Given the description of an element on the screen output the (x, y) to click on. 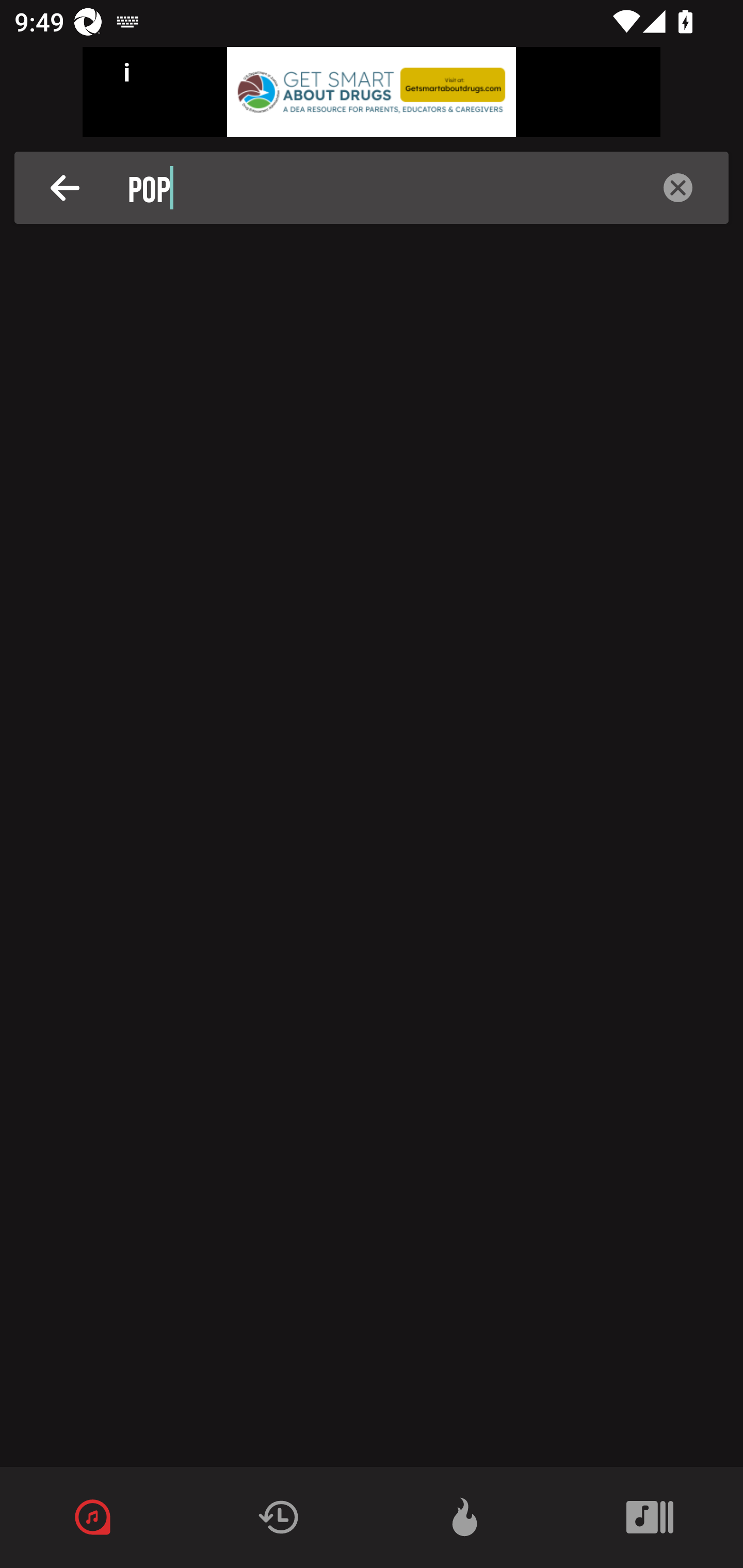
Pop (377, 188)
Description (64, 188)
Description (677, 188)
